Given the description of an element on the screen output the (x, y) to click on. 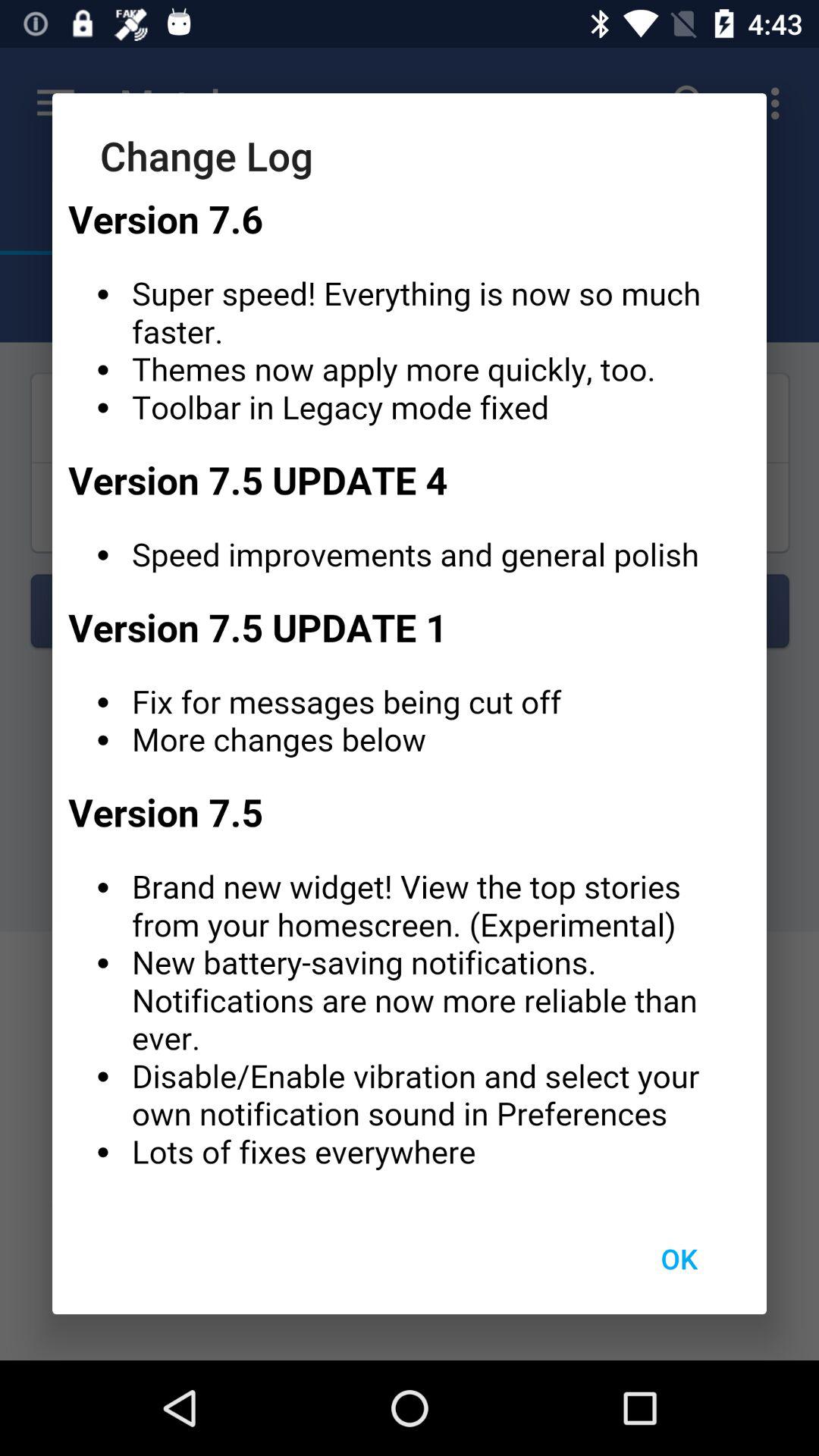
change log page (409, 692)
